Given the description of an element on the screen output the (x, y) to click on. 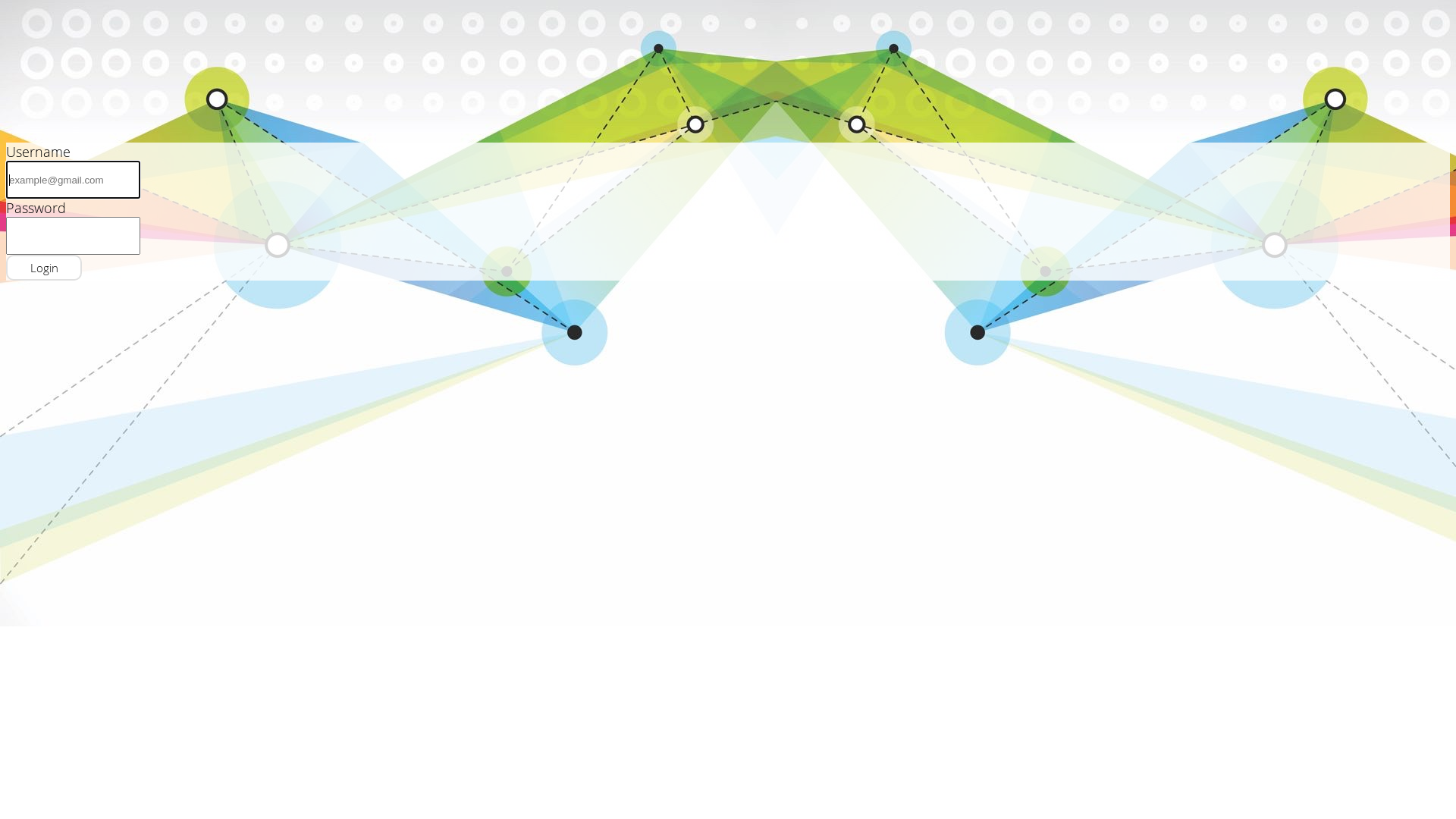
Login Element type: text (43, 267)
Please enter your password Element type: hover (73, 235)
Please enter you username Element type: hover (73, 179)
